Given the description of an element on the screen output the (x, y) to click on. 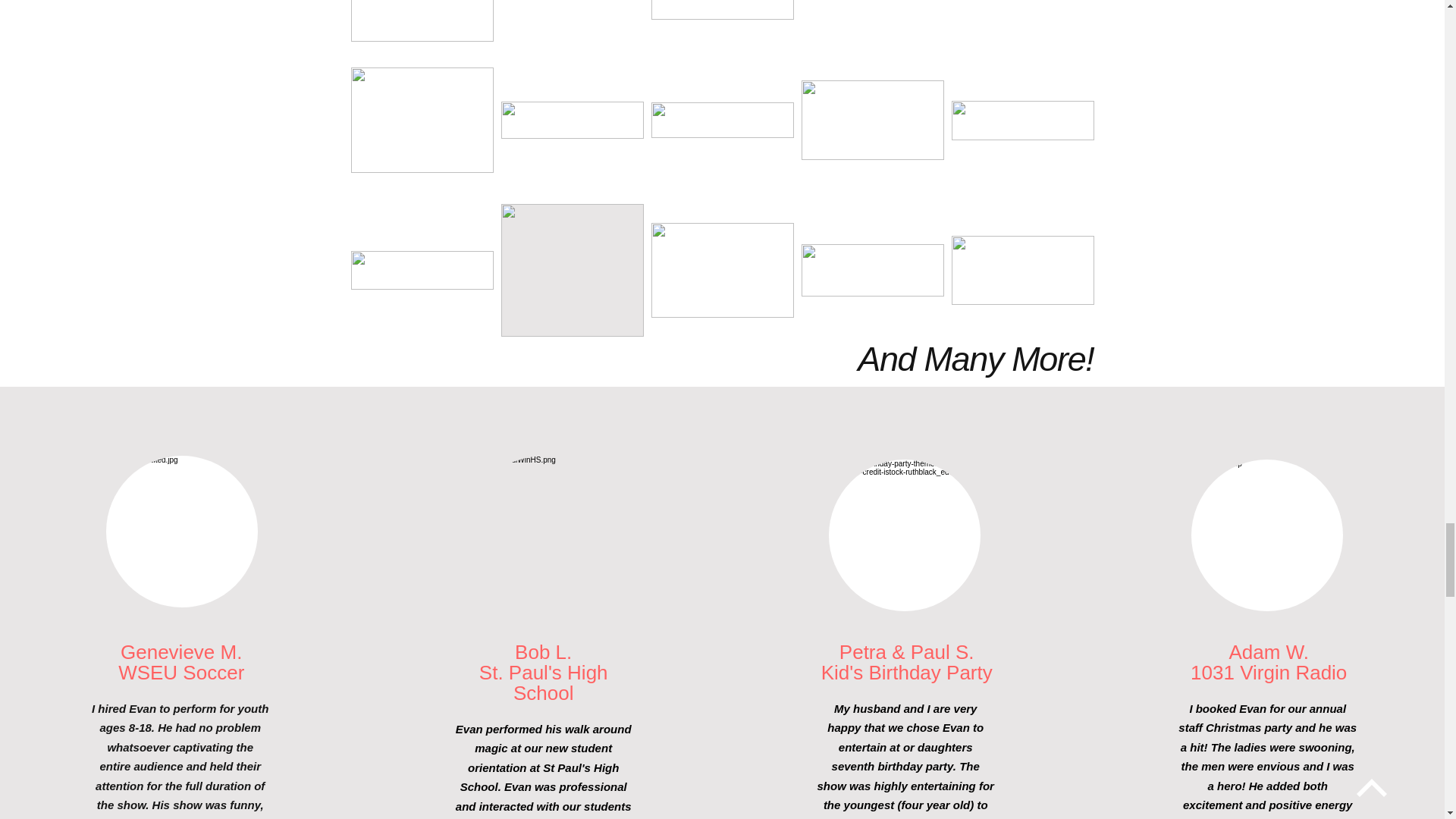
GettyImages-145680711.jpg (903, 534)
GettyImages-145680711.jpg (1266, 534)
GettyImages-124893619.jpg (542, 531)
GettyImages-535587703.jpg (181, 531)
